Given the description of an element on the screen output the (x, y) to click on. 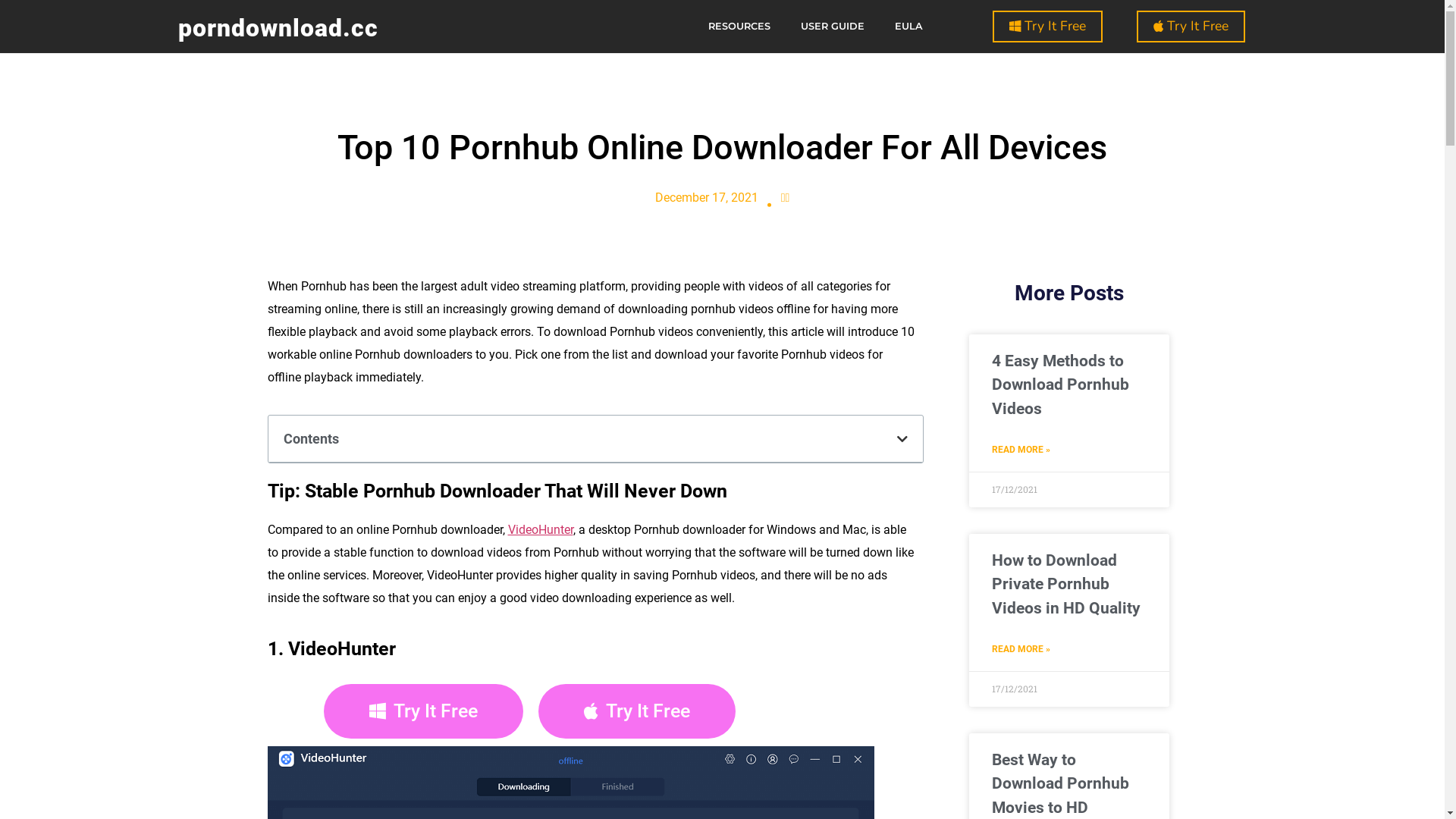
RESOURCES Element type: text (739, 26)
4 Easy Methods to Download Pornhub Videos Element type: text (1060, 384)
Try It Free Element type: text (636, 711)
December 17, 2021 Element type: text (706, 197)
How to Download Private Pornhub Videos in HD Quality Element type: text (1065, 584)
VideoHunter Element type: text (540, 529)
Try It Free Element type: text (1190, 26)
porndownload.cc Element type: text (277, 27)
Tip: Stable Pornhub Downloader That Will Never Down Element type: text (496, 491)
Try It Free Element type: text (423, 711)
Best Way to Download Pornhub Movies to HD Element type: text (1060, 783)
USER GUIDE Element type: text (832, 26)
EULA Element type: text (908, 26)
1. VideoHunter  Element type: text (332, 648)
Try It Free Element type: text (1047, 26)
